Given the description of an element on the screen output the (x, y) to click on. 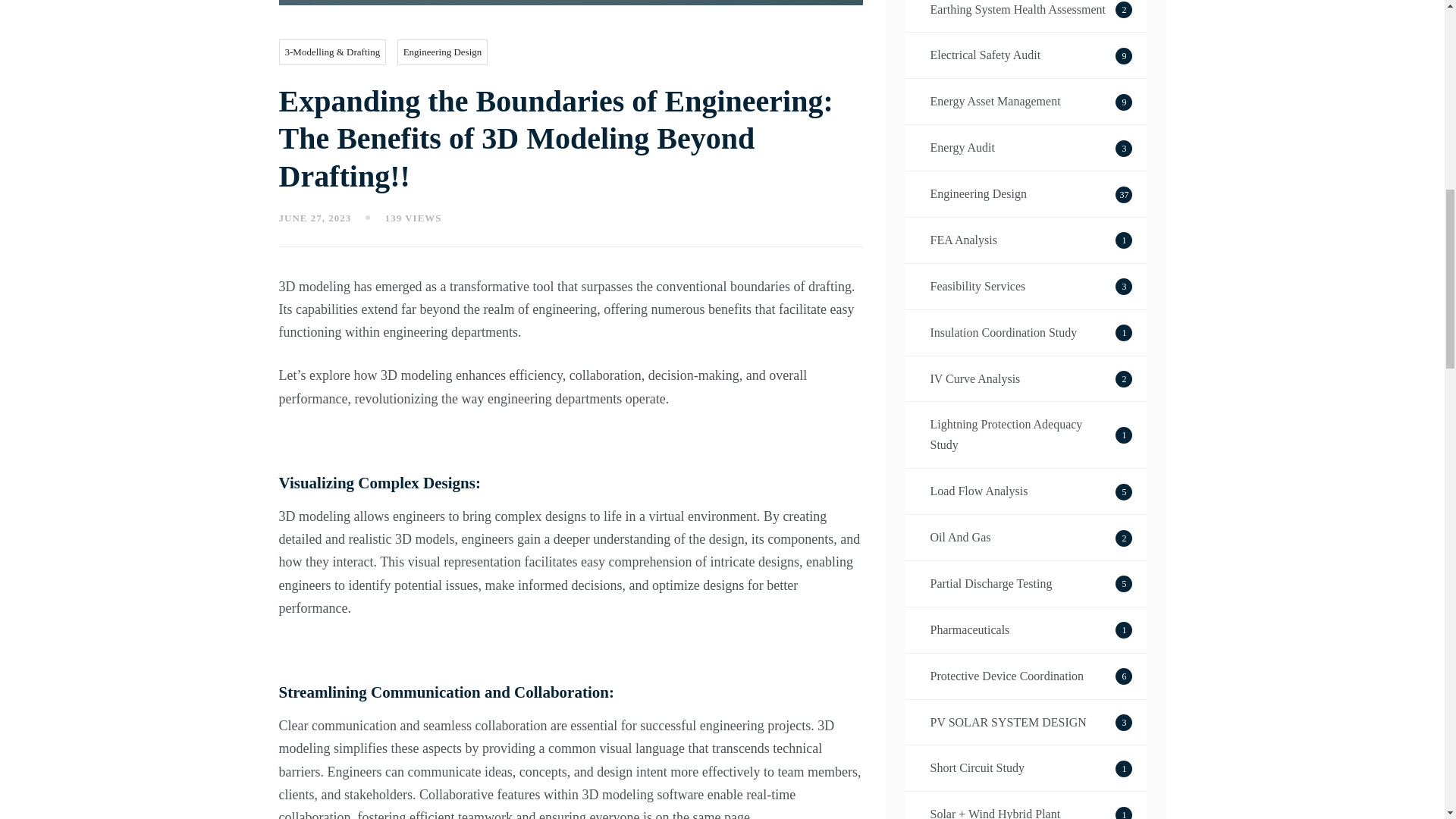
Engineering Design (1026, 101)
